Given the description of an element on the screen output the (x, y) to click on. 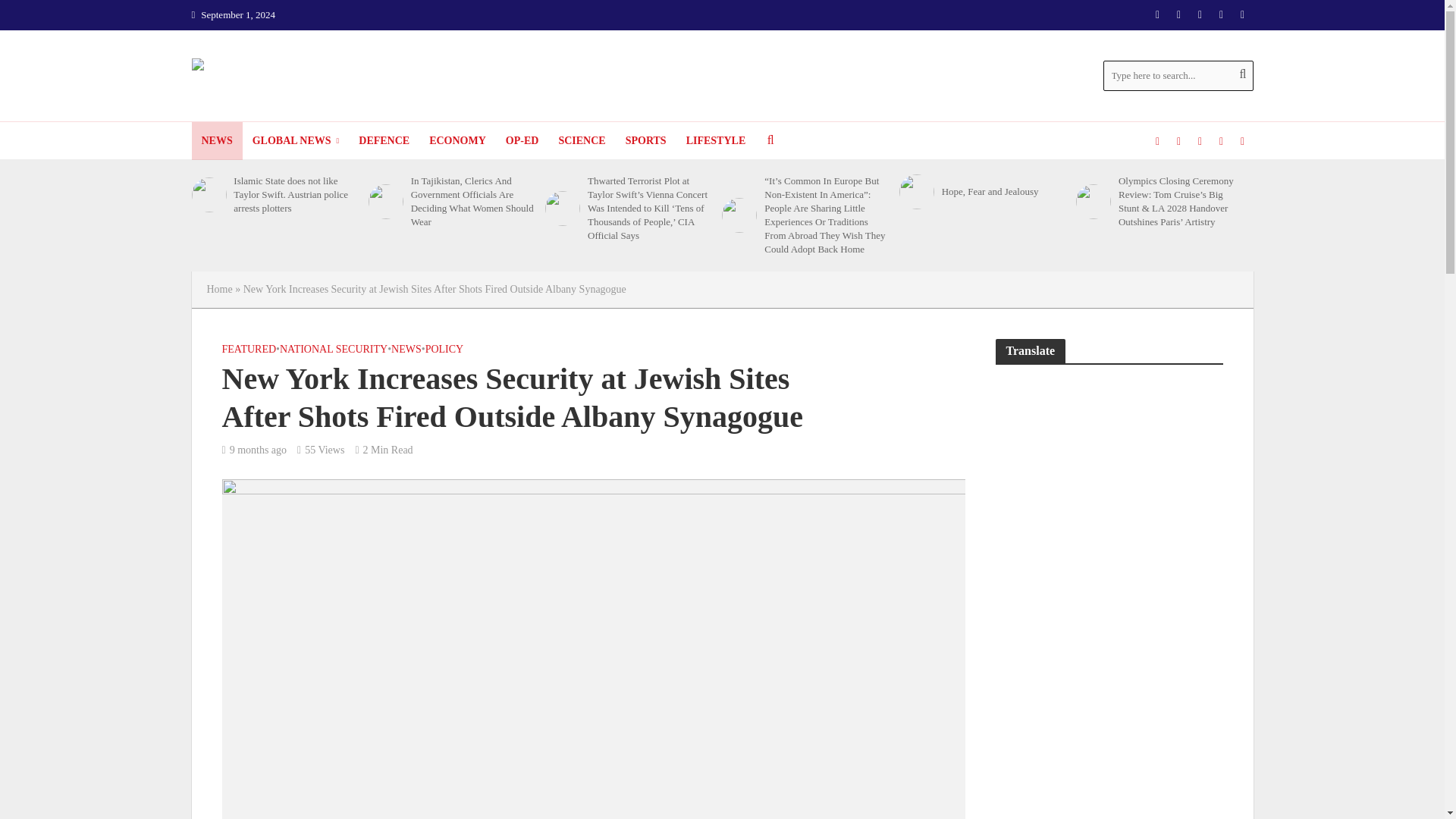
GLOBAL NEWS (296, 140)
NEWS (215, 140)
Hope, Fear and Jealousy (916, 191)
